Given the description of an element on the screen output the (x, y) to click on. 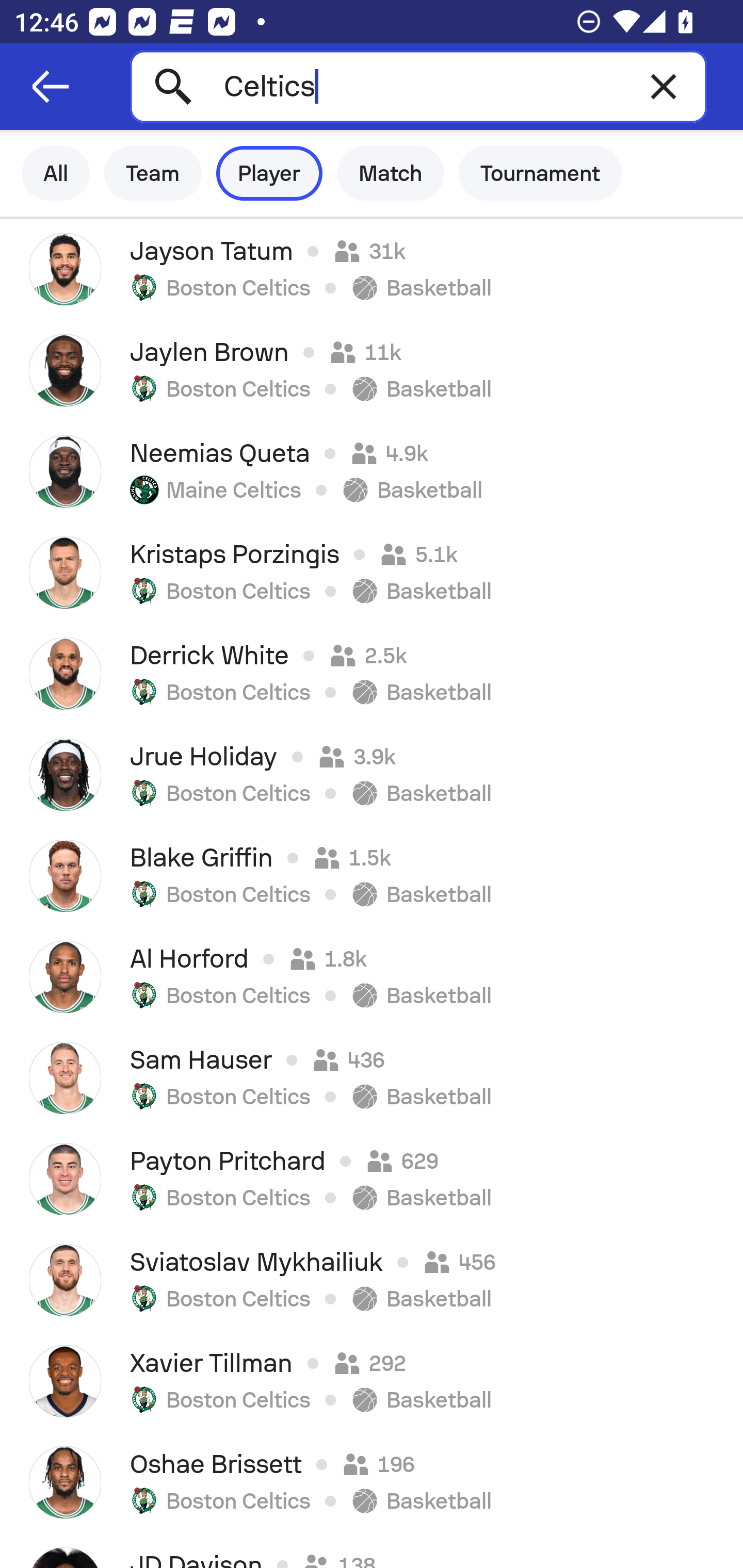
Navigate up (50, 86)
Celtics (418, 86)
Clear text (663, 86)
All (55, 172)
Team (152, 172)
Player (268, 172)
Match (390, 172)
Tournament (540, 172)
Jayson Tatum 31k Boston Celtics Basketball (371, 268)
Jaylen Brown 11k Boston Celtics Basketball (371, 369)
Neemias Queta 4.9k Maine Celtics Basketball (371, 471)
Kristaps Porzingis 5.1k Boston Celtics Basketball (371, 572)
Derrick White 2.5k Boston Celtics Basketball (371, 673)
Jrue Holiday 3.9k Boston Celtics Basketball (371, 774)
Blake Griffin 1.5k Boston Celtics Basketball (371, 875)
Al Horford 1.8k Boston Celtics Basketball (371, 976)
Sam Hauser 436 Boston Celtics Basketball (371, 1077)
Payton Pritchard 629 Boston Celtics Basketball (371, 1178)
Xavier Tillman 292 Boston Celtics Basketball (371, 1381)
Oshae Brissett 196 Boston Celtics Basketball (371, 1482)
